Given the description of an element on the screen output the (x, y) to click on. 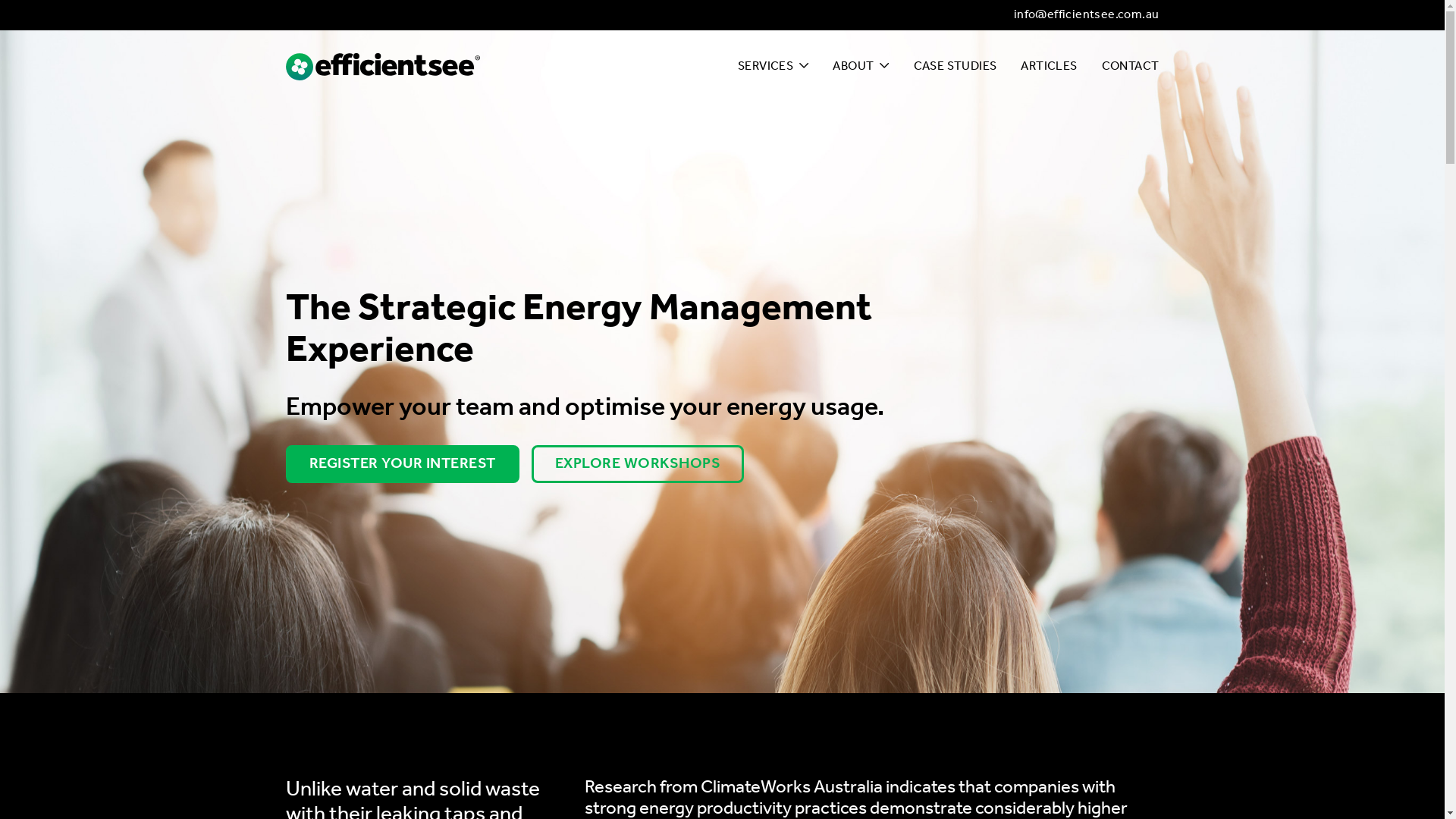
ABOUT Element type: text (860, 66)
CONTACT Element type: text (1130, 66)
SERVICES Element type: text (772, 66)
EXPLORE WORKSHOPS Element type: text (636, 464)
REGISTER YOUR INTEREST Element type: text (401, 464)
ARTICLES Element type: text (1048, 66)
info@efficientsee.com.au Element type: text (1086, 15)
CASE STUDIES Element type: text (955, 66)
